Given the description of an element on the screen output the (x, y) to click on. 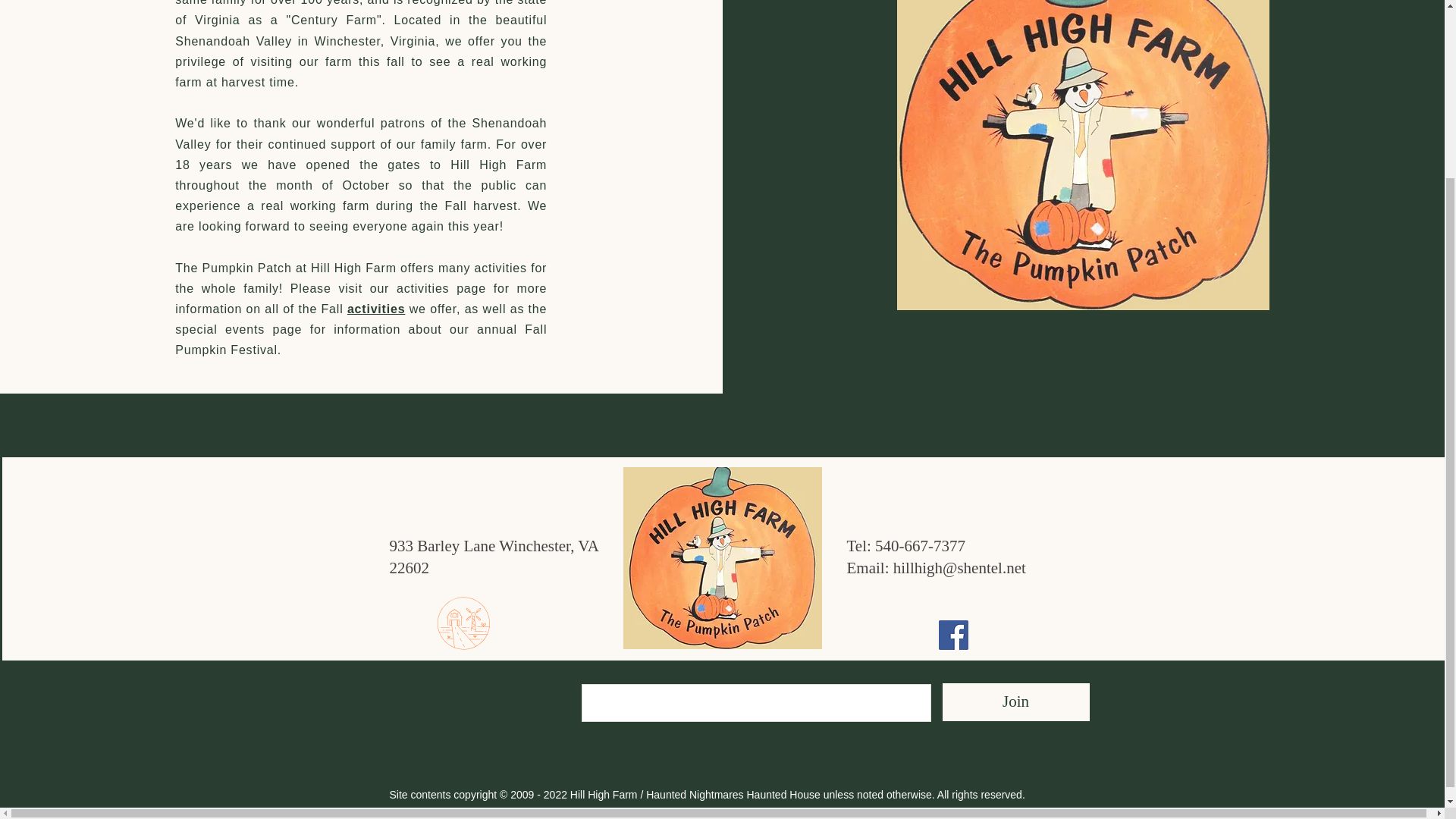
Join (1015, 702)
activities (375, 308)
